Given the description of an element on the screen output the (x, y) to click on. 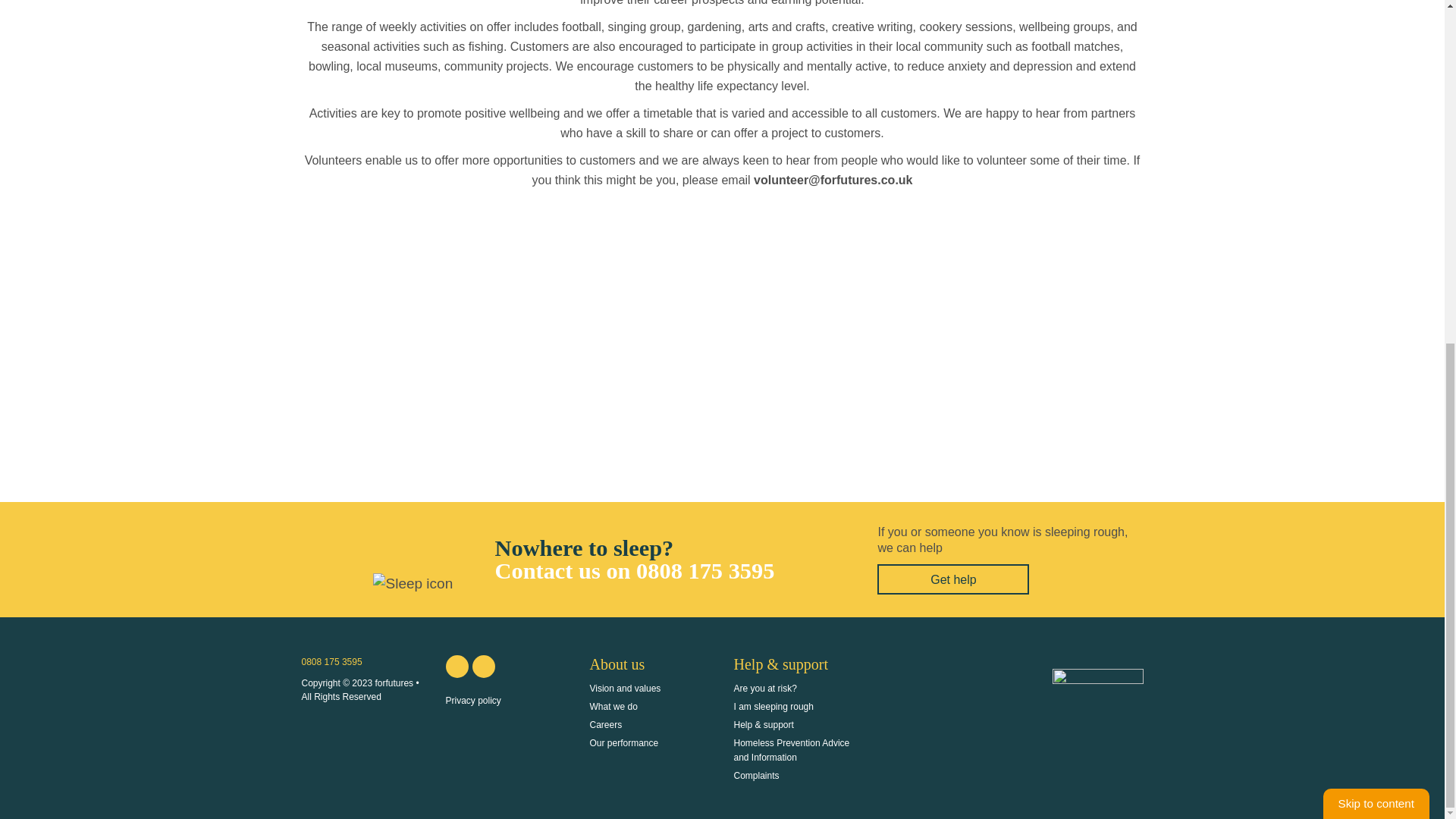
Social Media Icon (483, 666)
0808 175 3595 (331, 661)
What we do (613, 706)
Privacy policy (472, 700)
Are you at risk? (764, 688)
Our performance (624, 742)
Get help (953, 579)
Social Media Icon (456, 666)
Complaints (755, 775)
Careers (606, 724)
